Given the description of an element on the screen output the (x, y) to click on. 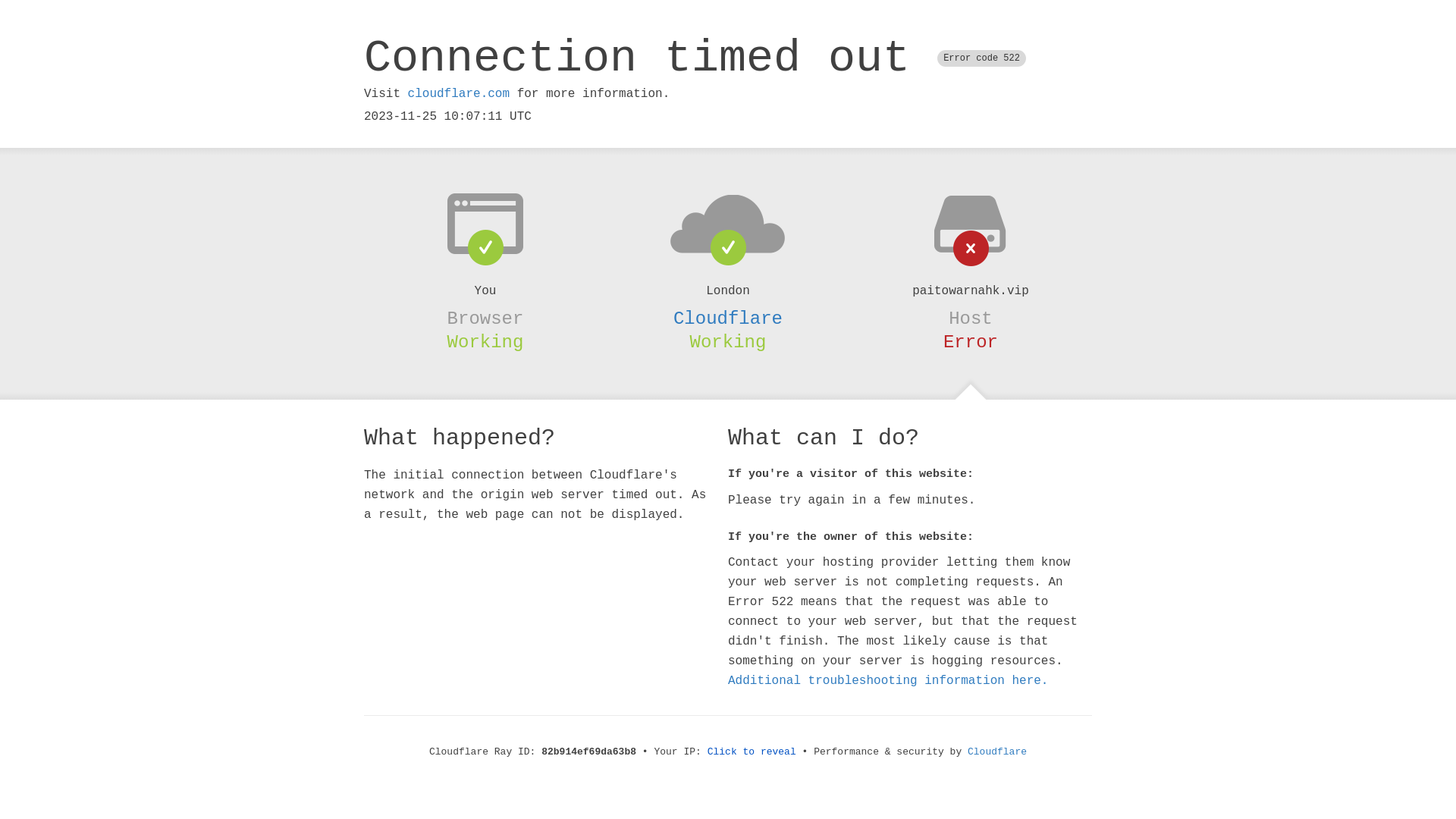
Click to reveal Element type: text (751, 751)
Cloudflare Element type: text (996, 751)
Cloudflare Element type: text (727, 318)
cloudflare.com Element type: text (458, 93)
Additional troubleshooting information here. Element type: text (888, 680)
